Given the description of an element on the screen output the (x, y) to click on. 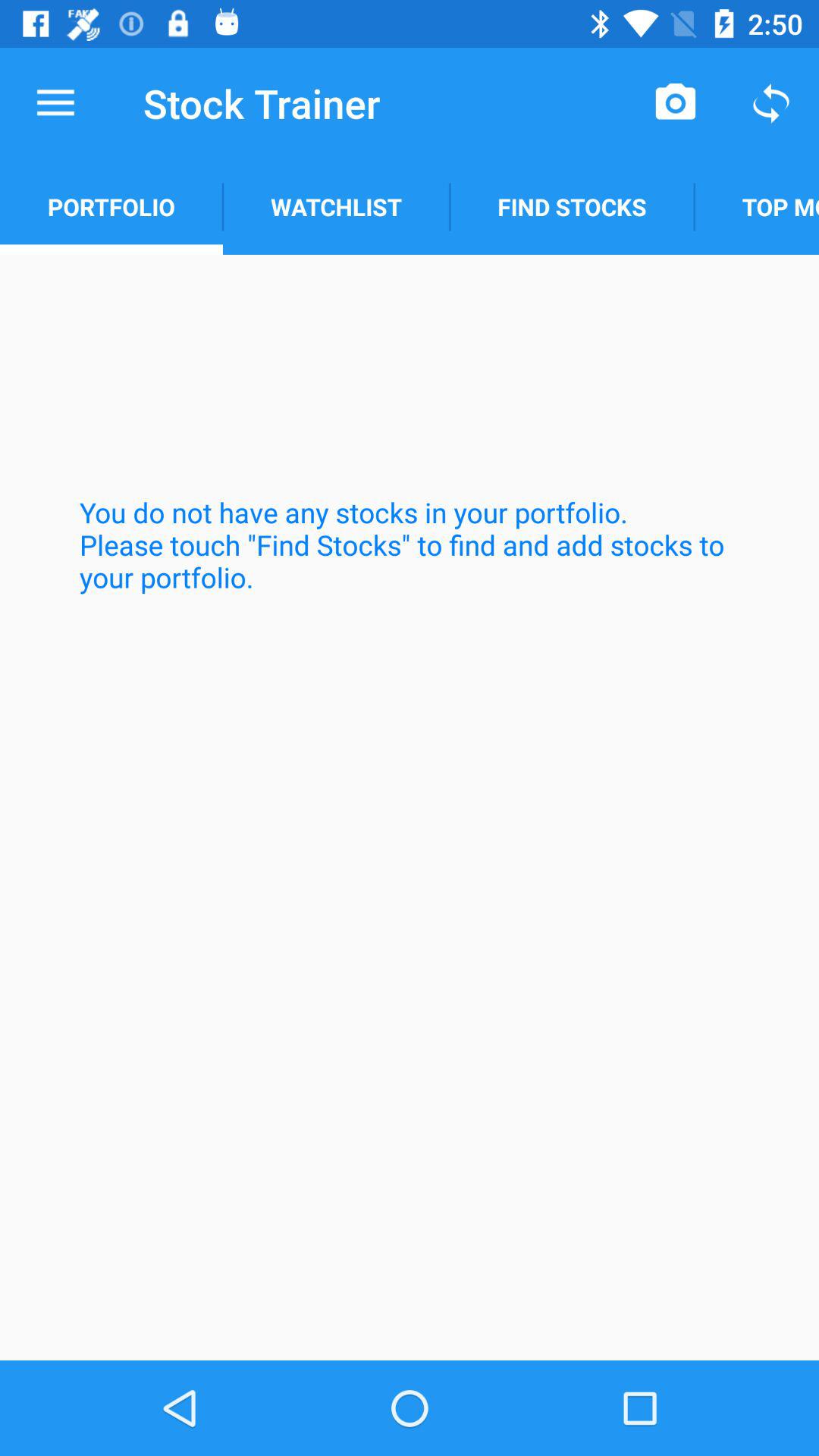
tap the app next to the find stocks (756, 206)
